Given the description of an element on the screen output the (x, y) to click on. 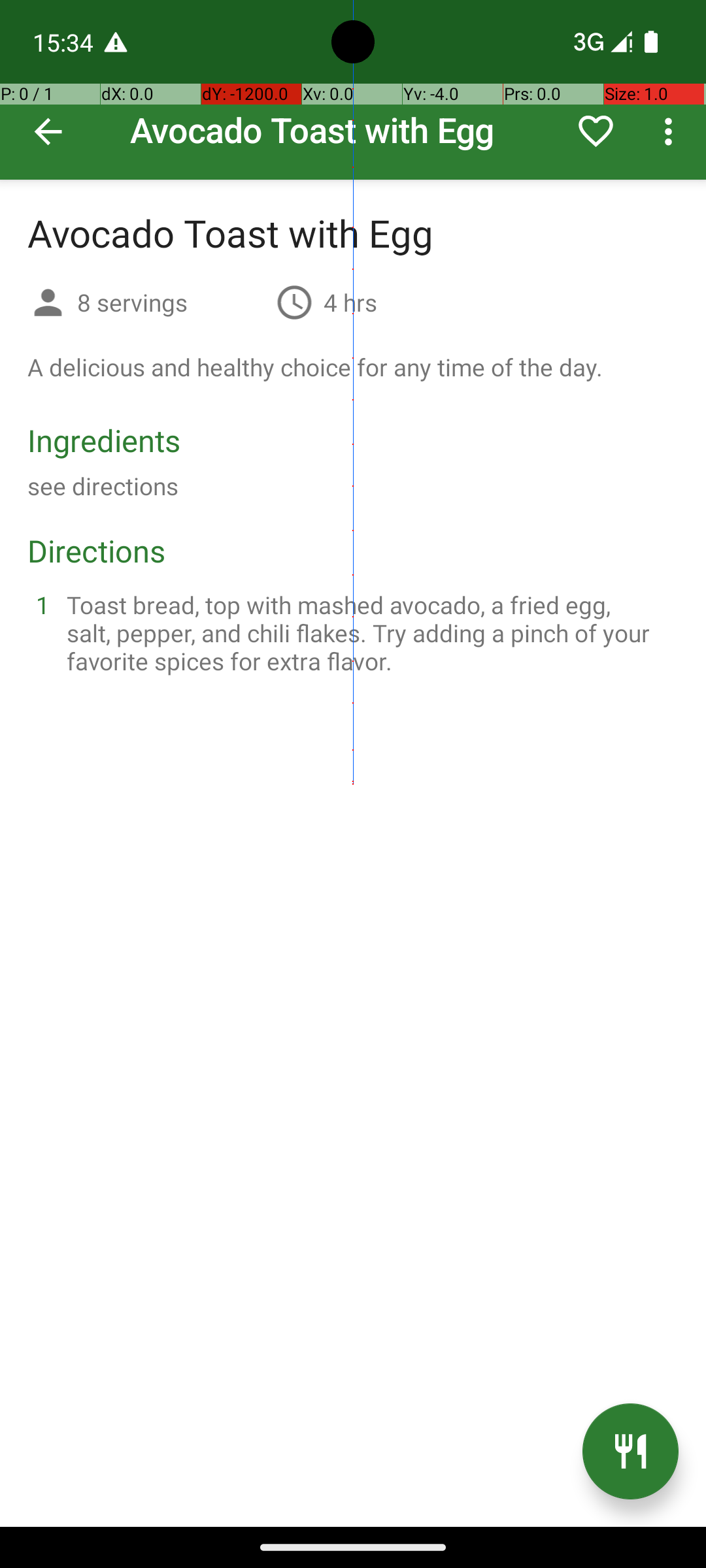
4 hrs Element type: android.widget.TextView (350, 301)
Toast bread, top with mashed avocado, a fried egg, salt, pepper, and chili flakes. Try adding a pinch of your favorite spices for extra flavor. Element type: android.widget.TextView (368, 632)
